Given the description of an element on the screen output the (x, y) to click on. 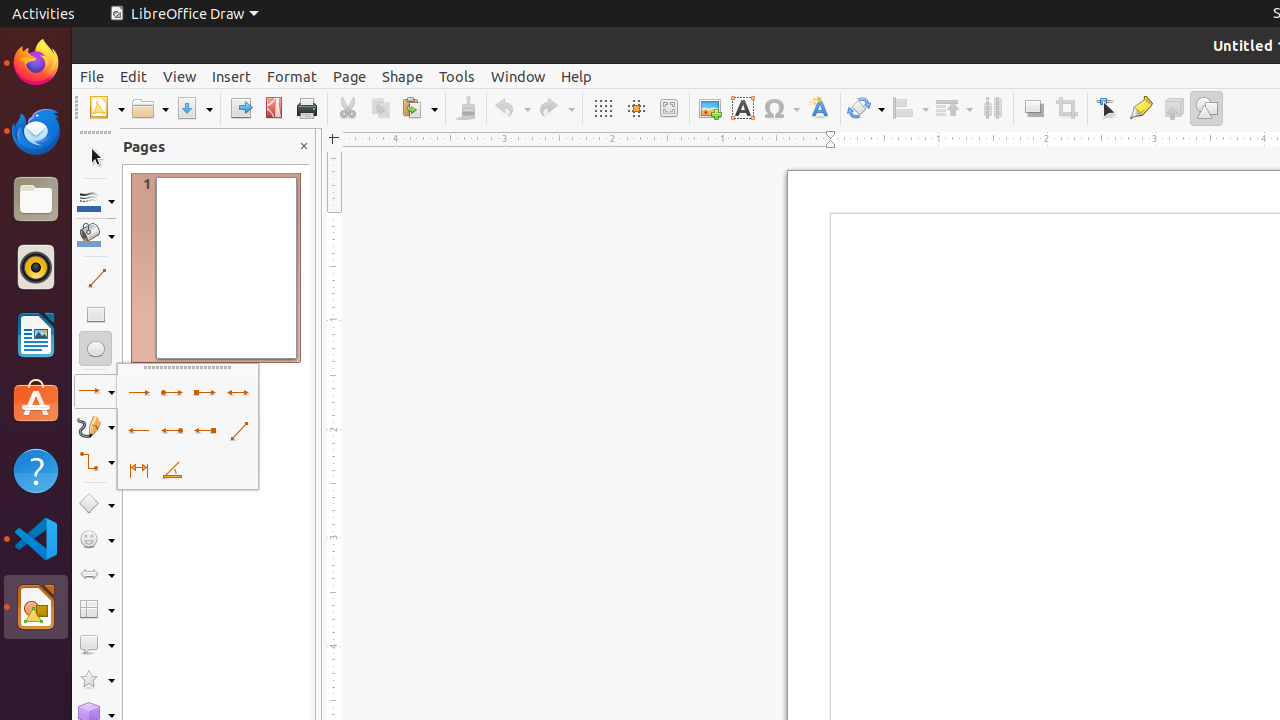
Rhythmbox Element type: push-button (36, 267)
Line Color Element type: push-button (96, 200)
Clone Element type: push-button (465, 108)
Export Element type: push-button (240, 108)
Cut Element type: push-button (347, 108)
